Given the description of an element on the screen output the (x, y) to click on. 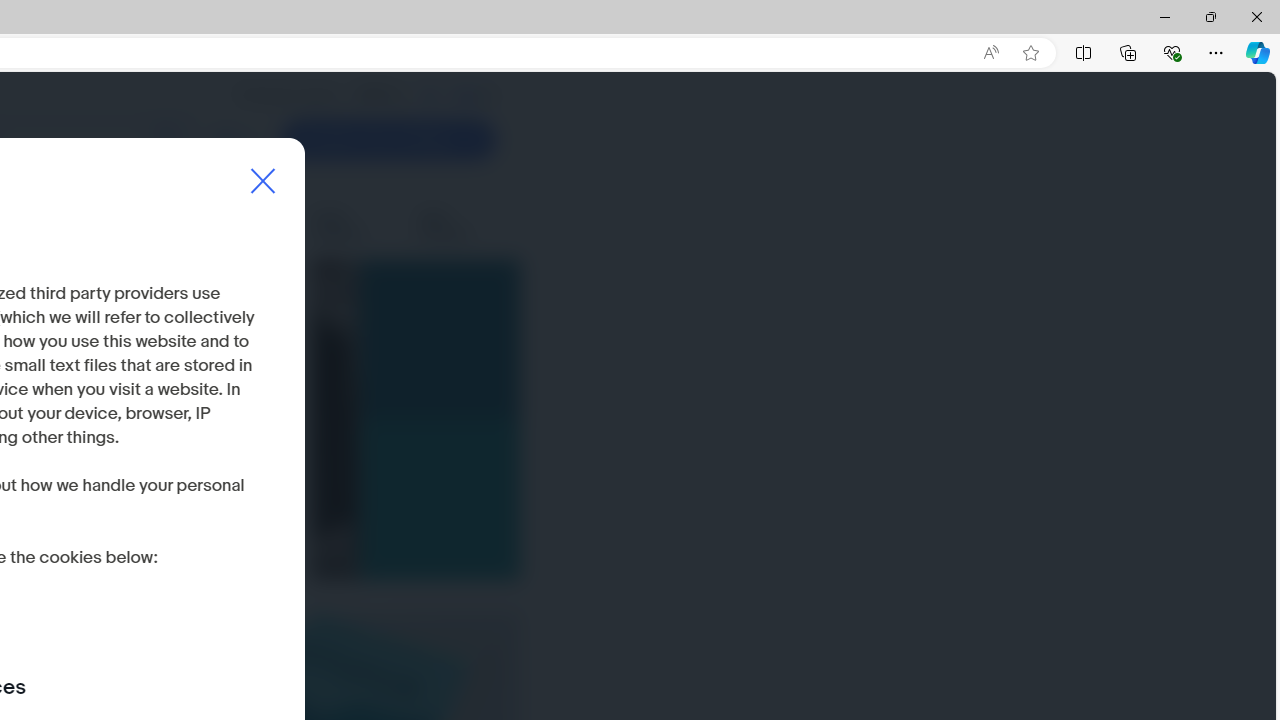
Class: header__toplink-icon (489, 95)
Decline all (68, 559)
eBay Partners (457, 225)
Marketing (257, 226)
Accept All (205, 559)
Create Your Listing (388, 139)
